Given the description of an element on the screen output the (x, y) to click on. 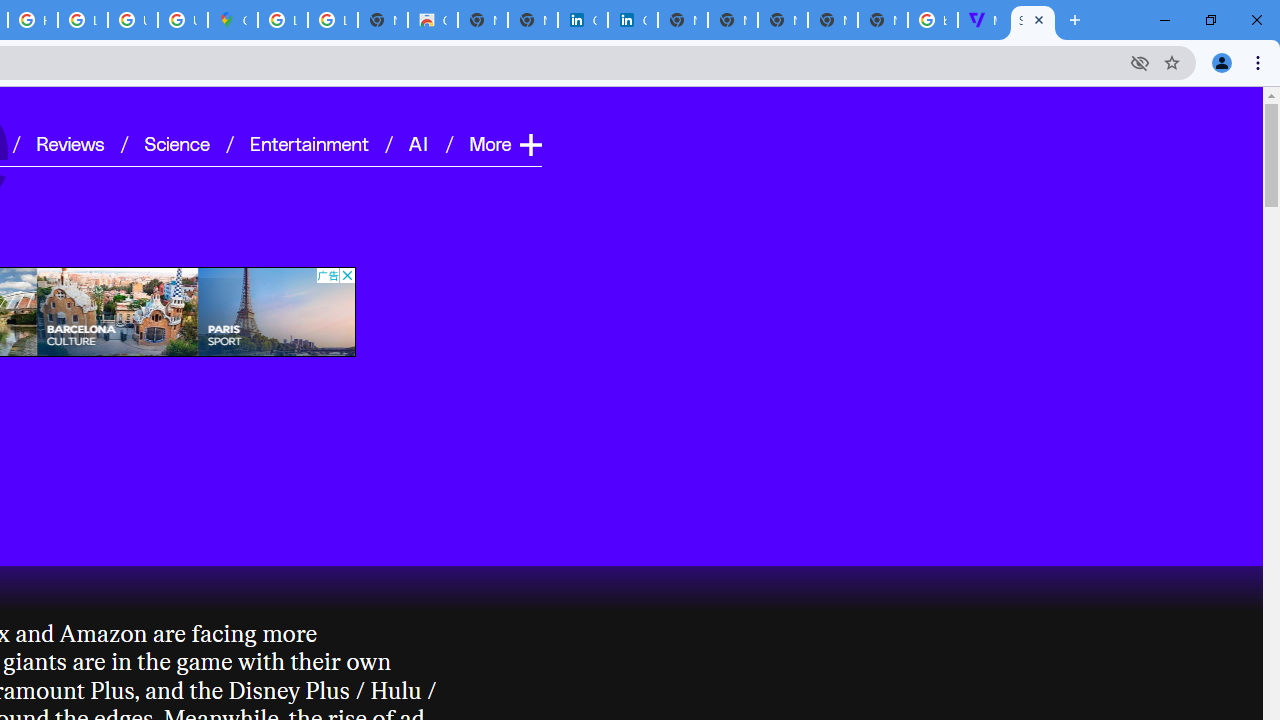
Science (176, 142)
Cookie Policy | LinkedIn (632, 20)
Cookie Policy | LinkedIn (582, 20)
New Tab (882, 20)
